Given the description of an element on the screen output the (x, y) to click on. 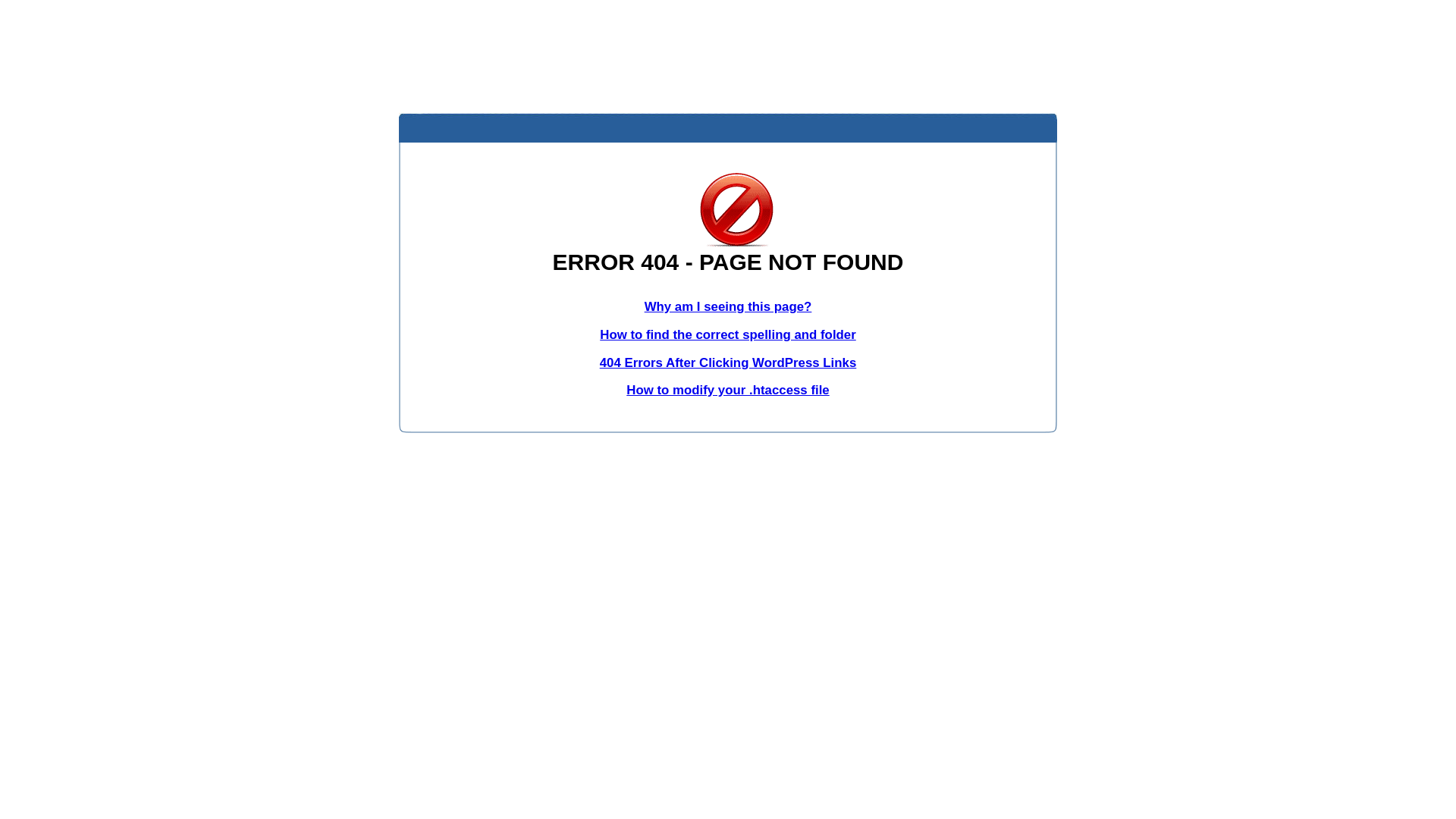
How to find the correct spelling and folder Element type: text (727, 334)
How to modify your .htaccess file Element type: text (727, 389)
404 Errors After Clicking WordPress Links Element type: text (727, 362)
Why am I seeing this page? Element type: text (728, 306)
